Given the description of an element on the screen output the (x, y) to click on. 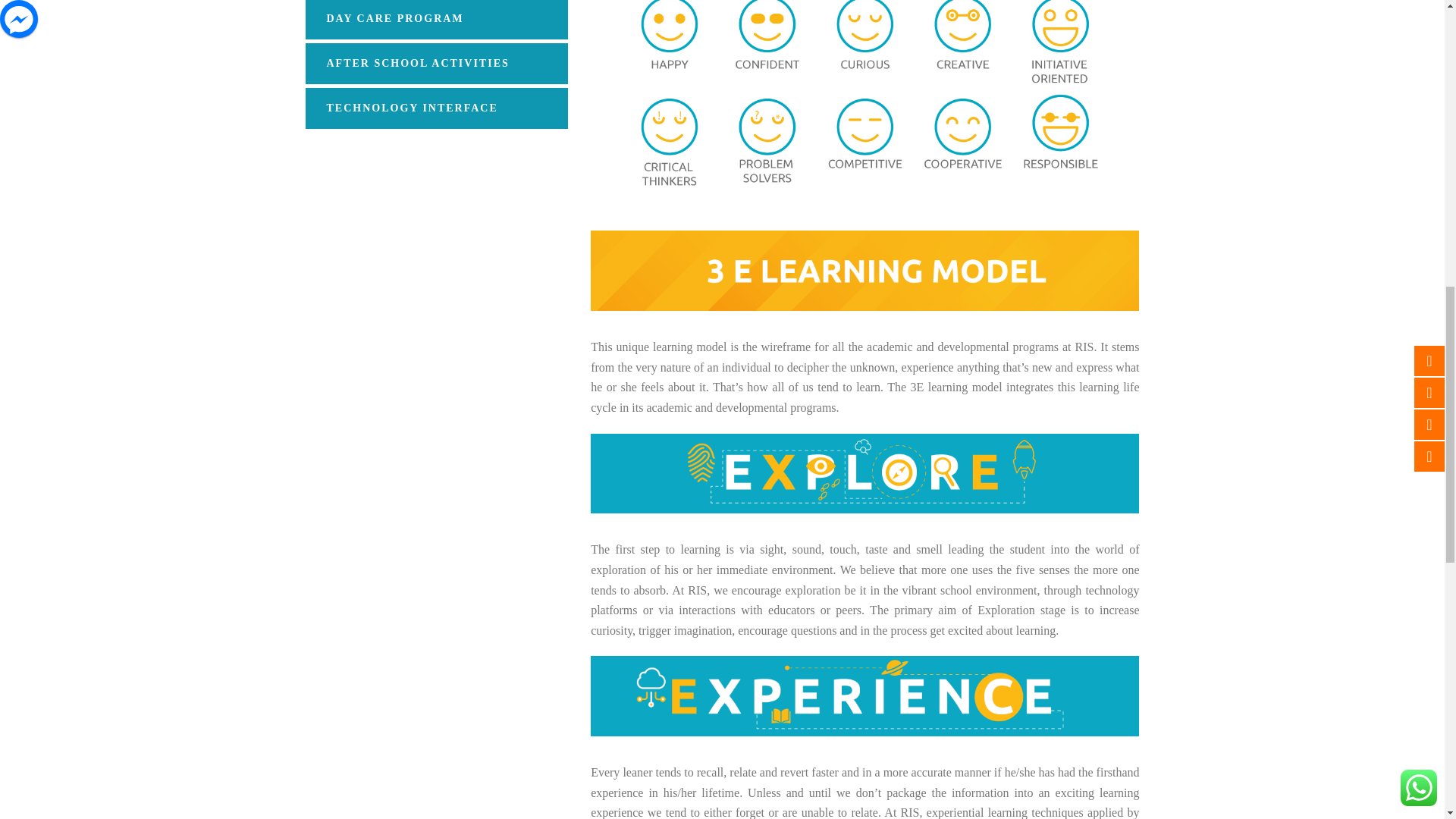
DAY CARE PROGRAM (435, 19)
AFTER SCHOOL ACTIVITIES (435, 63)
TECHNOLOGY INTERFACE (435, 107)
